Given the description of an element on the screen output the (x, y) to click on. 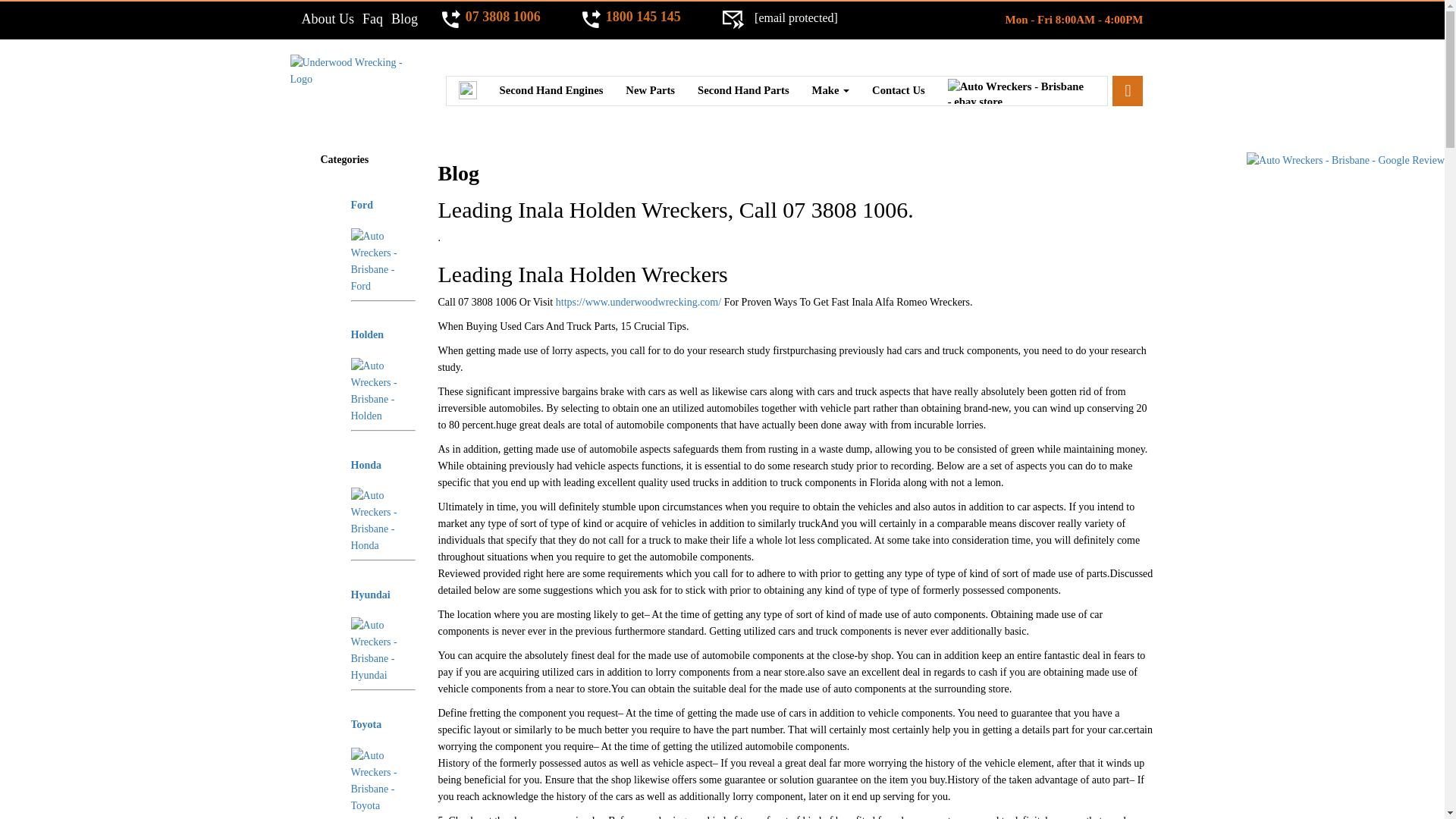
New Parts (649, 89)
Second Hand Engines (550, 89)
07 3808 1006 (501, 17)
Second Hand Parts (742, 89)
Home (466, 91)
Second Hand Parts (742, 89)
1800 145 145 (641, 17)
Faq (372, 18)
Blog (404, 18)
Contact Us (898, 89)
